Given the description of an element on the screen output the (x, y) to click on. 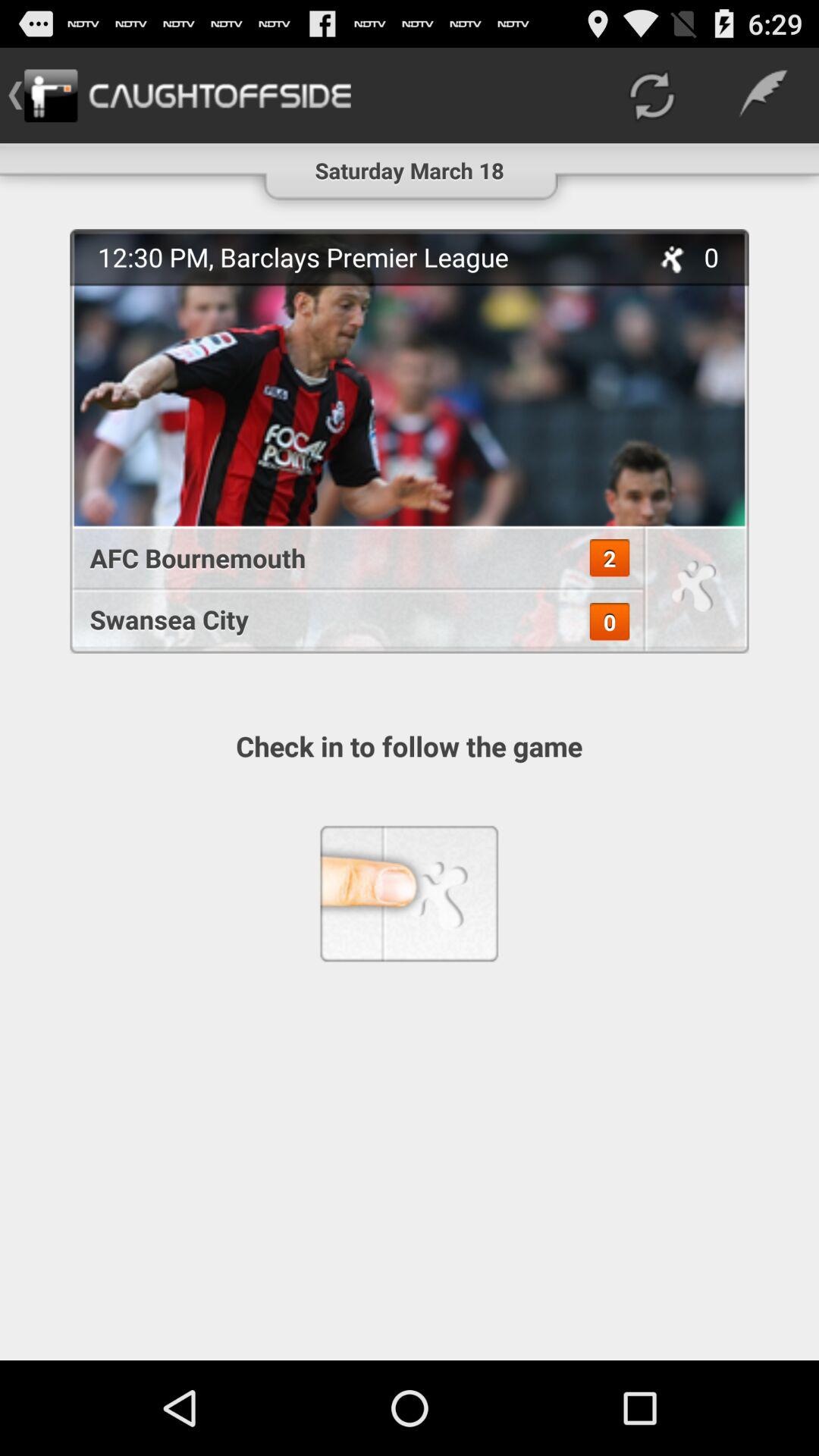
select the icon next to saturday march 18 item (651, 95)
